Given the description of an element on the screen output the (x, y) to click on. 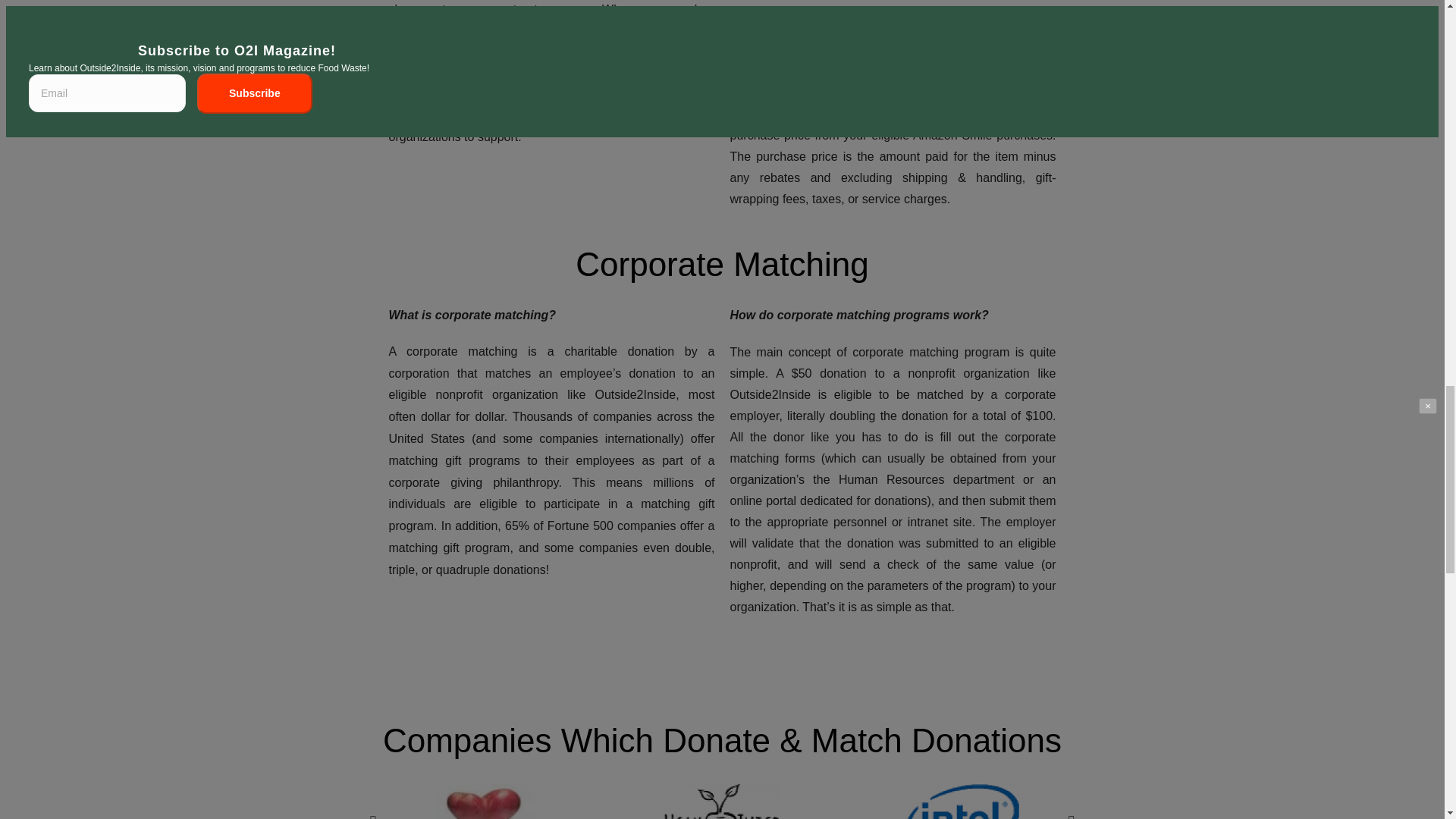
smile.amazon.com (453, 30)
smile.amazon.com (793, 76)
